Given the description of an element on the screen output the (x, y) to click on. 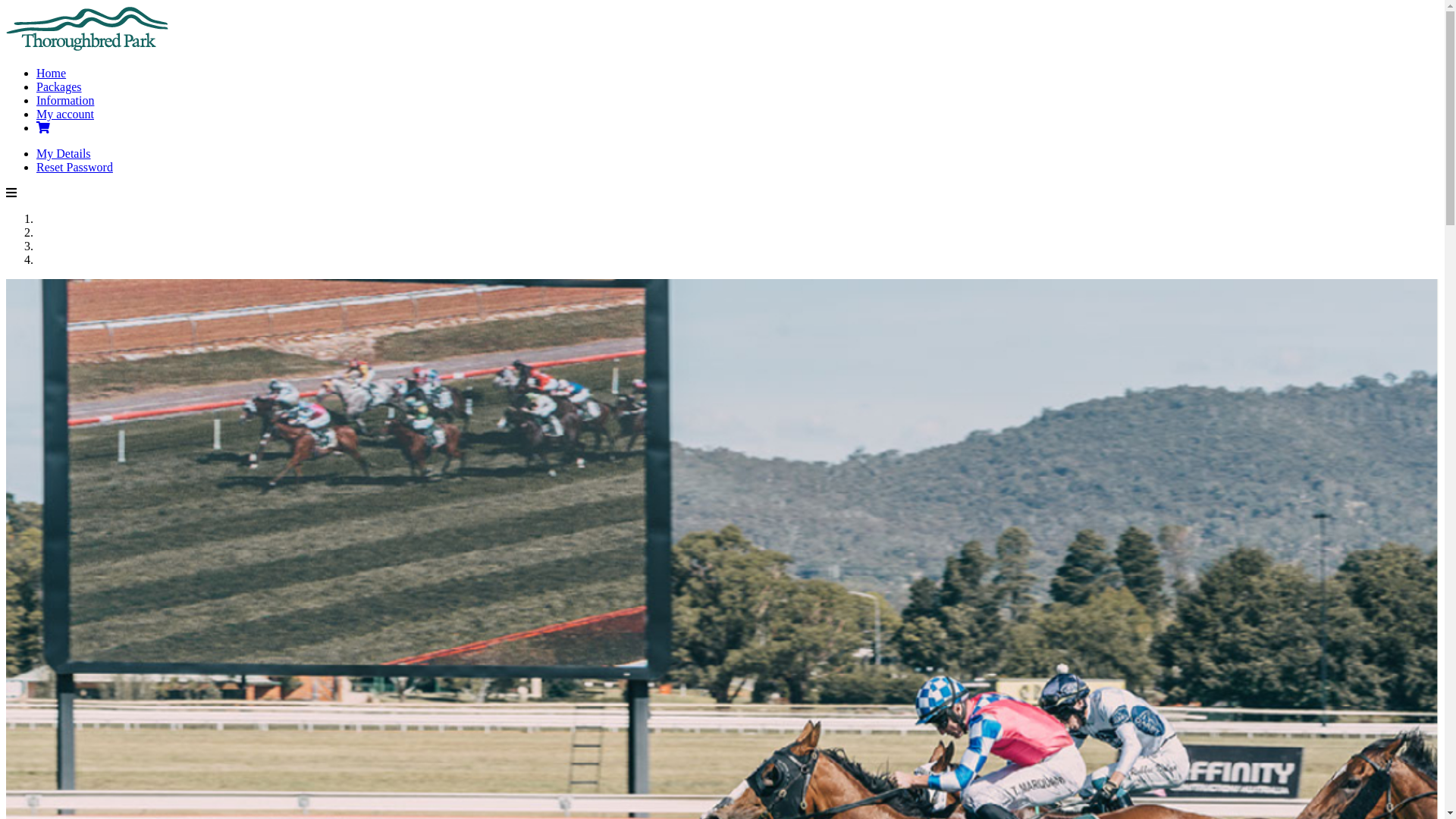
Home Element type: text (50, 72)
My account Element type: text (65, 113)
Packages Element type: text (58, 86)
Information Element type: text (65, 100)
Reset Password Element type: text (74, 166)
My Details Element type: text (63, 153)
